Given the description of an element on the screen output the (x, y) to click on. 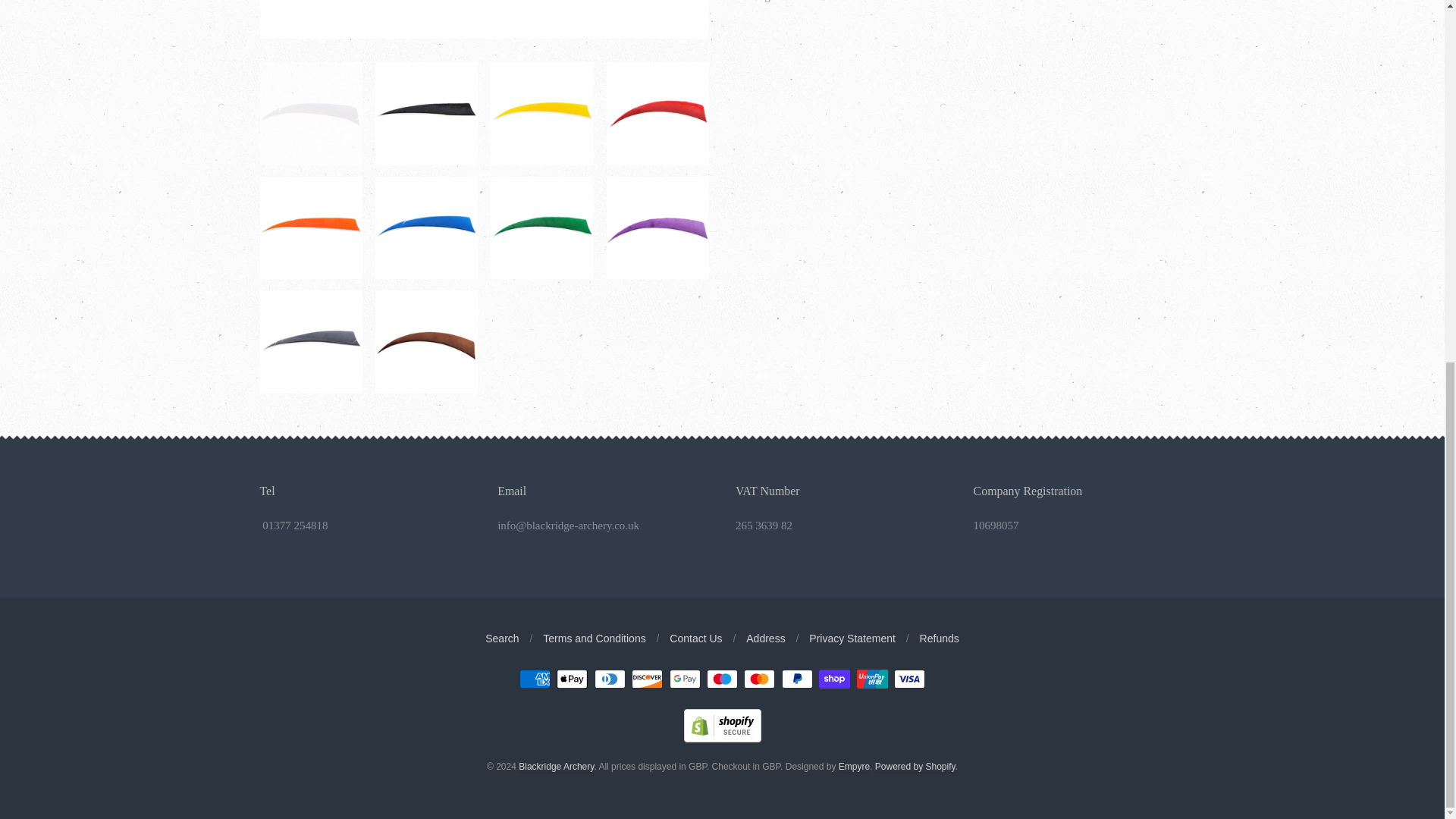
This online store is secured by Shopify (722, 738)
